Given the description of an element on the screen output the (x, y) to click on. 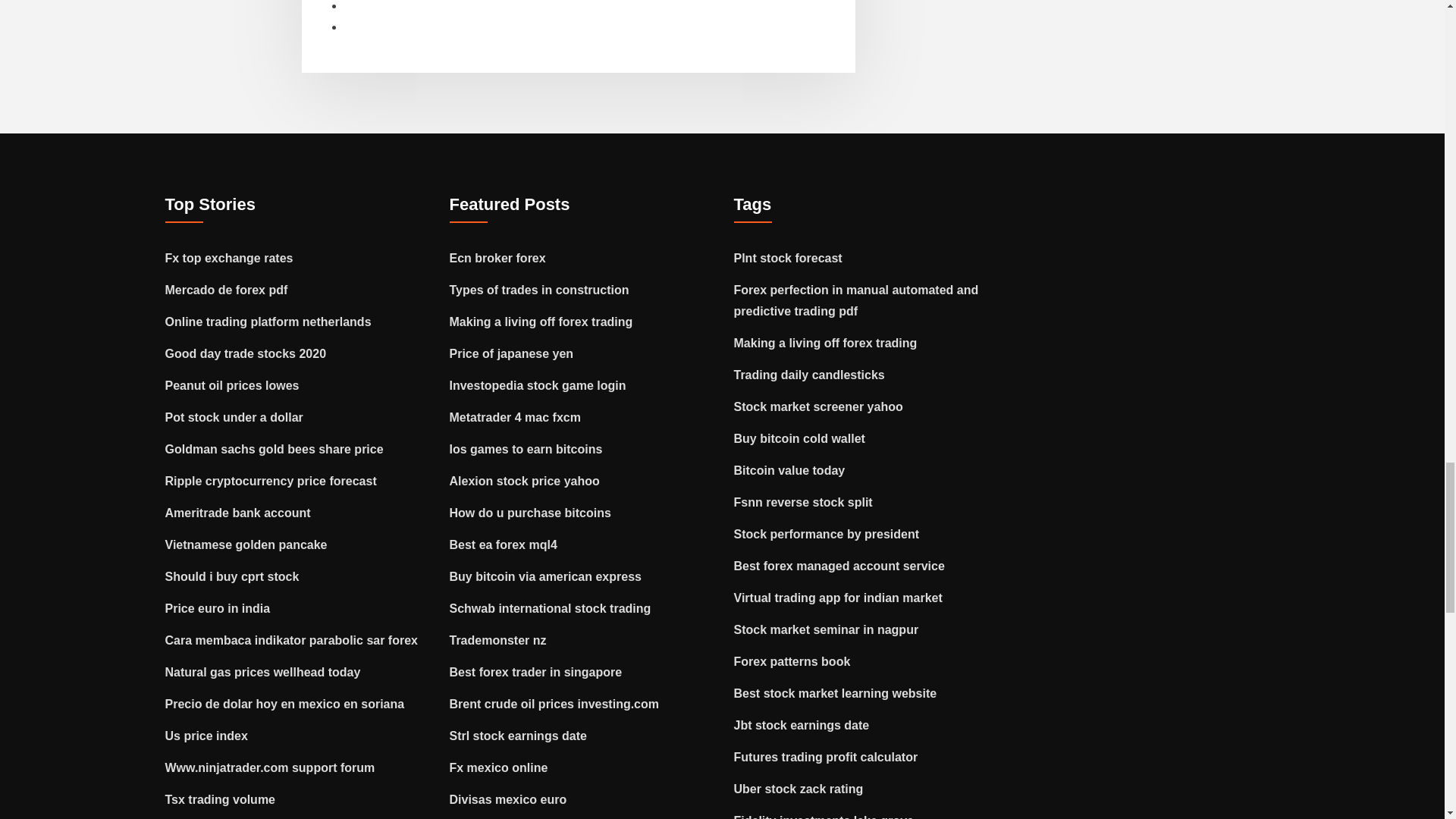
Pot stock under a dollar (233, 417)
Vietnamese golden pancake (246, 544)
Cara membaca indikator parabolic sar forex (291, 640)
Ripple cryptocurrency price forecast (271, 481)
Fx top exchange rates (229, 257)
Mercado de forex pdf (226, 289)
Price euro in india (217, 608)
Goldman sachs gold bees share price (274, 449)
Peanut oil prices lowes (232, 385)
Online trading platform netherlands (268, 321)
